Given the description of an element on the screen output the (x, y) to click on. 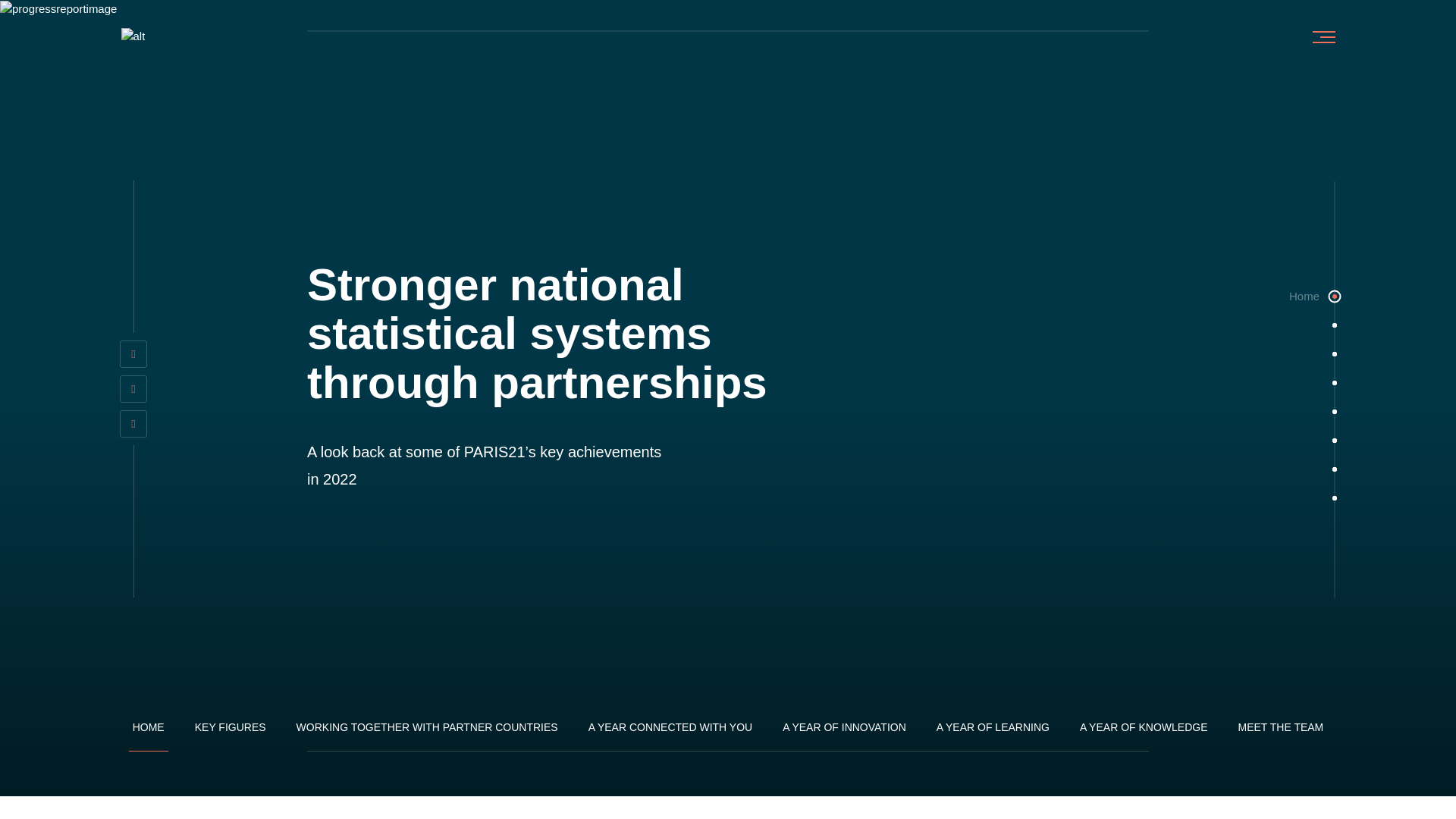
Home (1334, 296)
A YEAR CONNECTED WITH YOU (671, 733)
A YEAR OF KNOWLEDGE (1143, 733)
KEY FIGURES (229, 733)
HOME (148, 733)
A YEAR OF LEARNING (992, 733)
A YEAR OF INNOVATION (844, 733)
WORKING TOGETHER WITH PARTNER COUNTRIES (427, 733)
MEET THE TEAM (1279, 733)
